Given the description of an element on the screen output the (x, y) to click on. 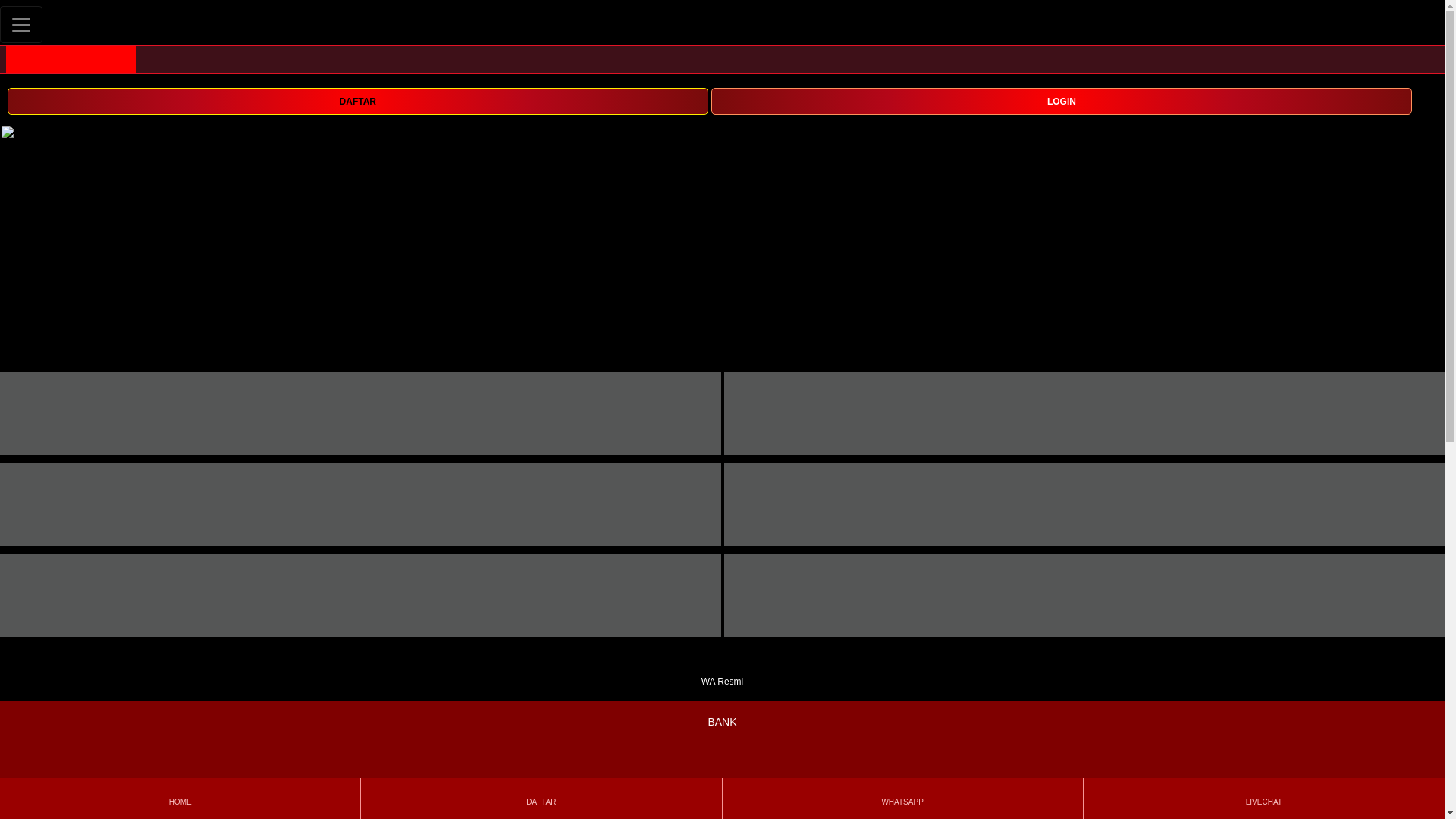
DAFTAR (540, 798)
HOME (179, 798)
WA Resmi (722, 672)
DAFTAR (357, 100)
LOGIN (1061, 100)
WHATSAPP (901, 798)
LIVECHAT (1263, 798)
DAFTAR (357, 100)
LOGIN (1061, 100)
